Given the description of an element on the screen output the (x, y) to click on. 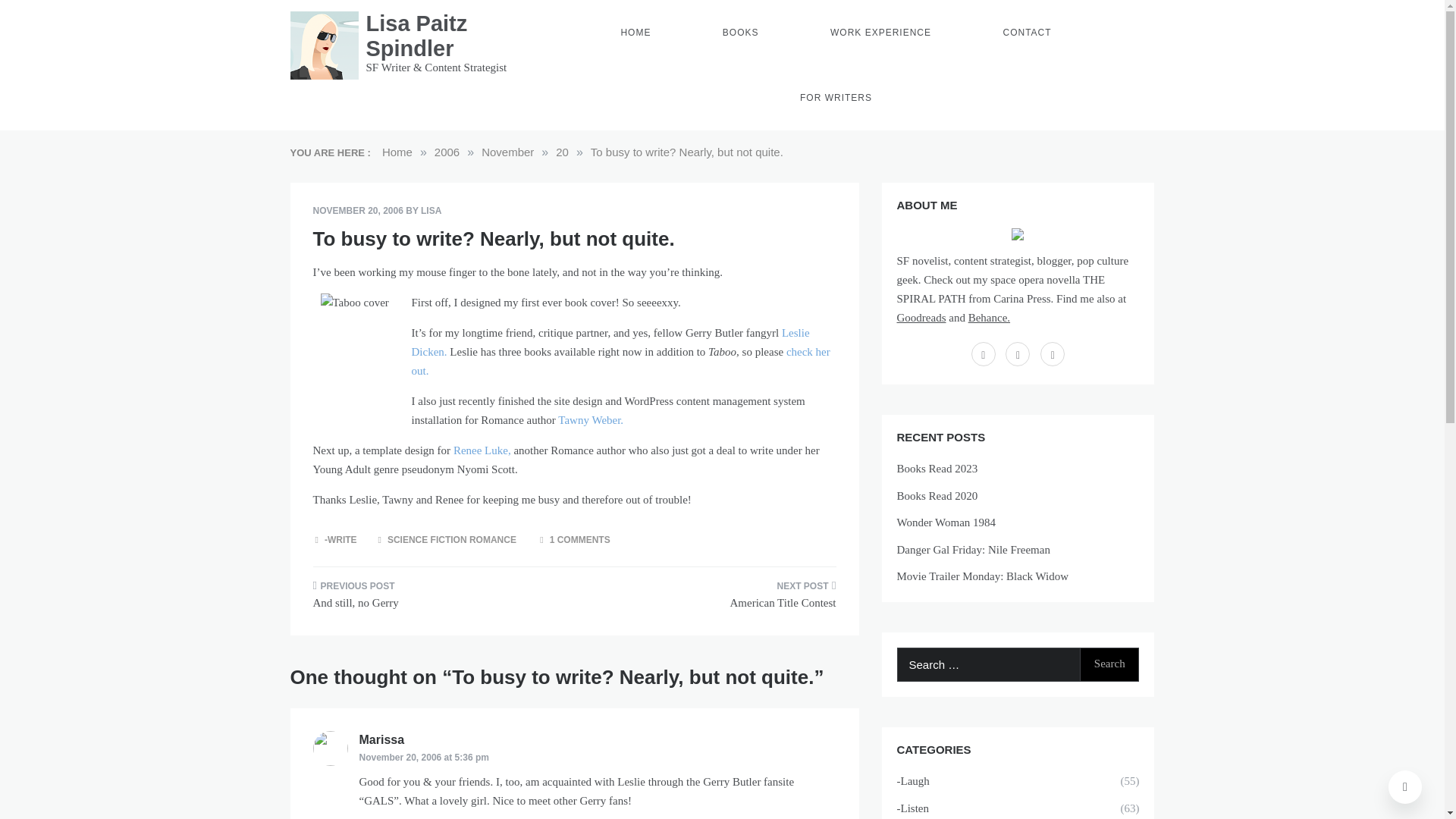
1 COMMENTS (580, 539)
Leslie Dicken. (609, 341)
2006 (446, 151)
Behance. (989, 316)
20 (562, 151)
And still, no Gerry (437, 599)
Tawny Weber. (590, 419)
Renee Luke, (481, 450)
Home (396, 151)
November 20, 2006 at 5:36 pm (424, 757)
